Given the description of an element on the screen output the (x, y) to click on. 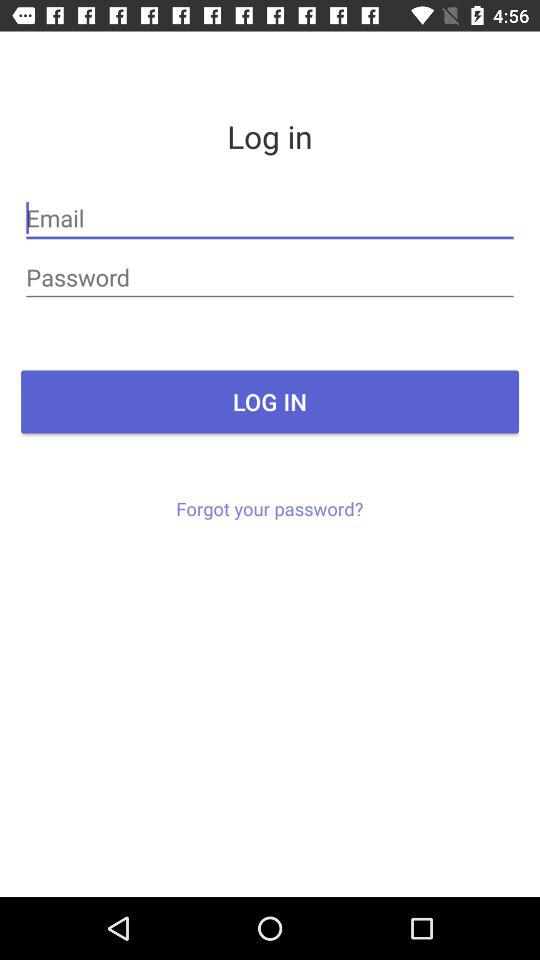
flip to the forgot your password? icon (269, 508)
